Given the description of an element on the screen output the (x, y) to click on. 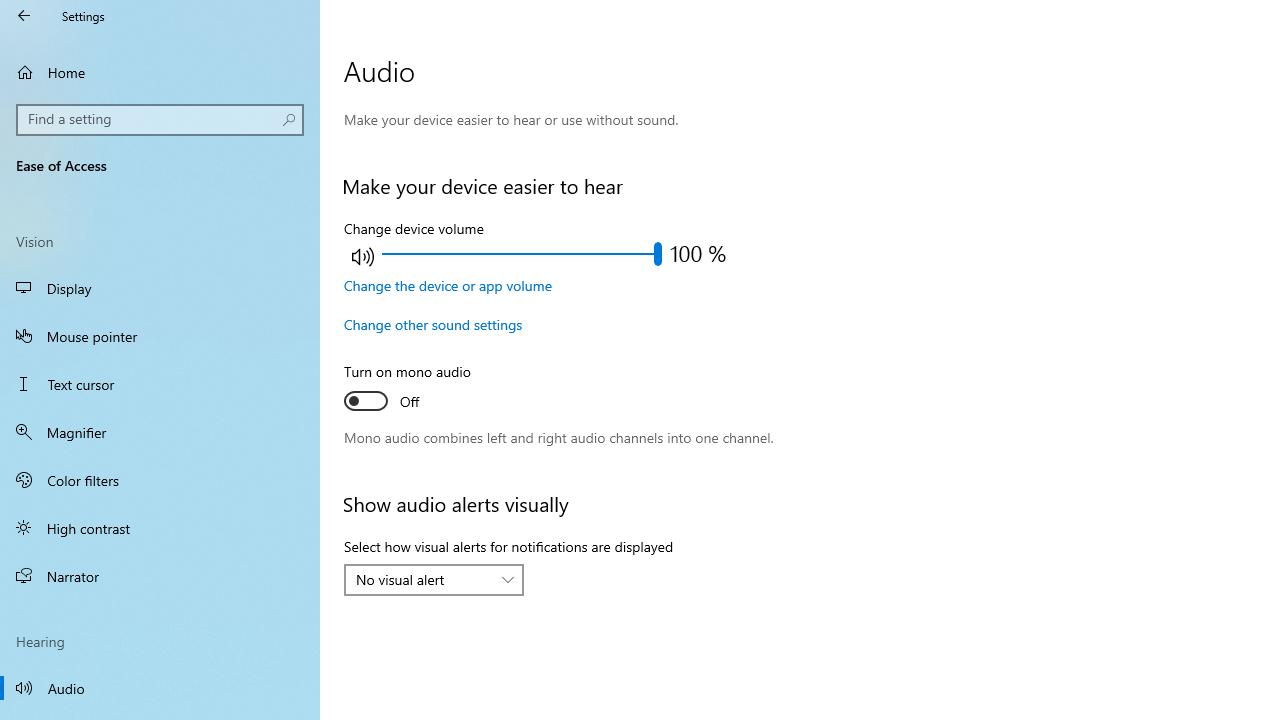
Mouse pointer (160, 335)
Change the device or app volume (448, 285)
